Given the description of an element on the screen output the (x, y) to click on. 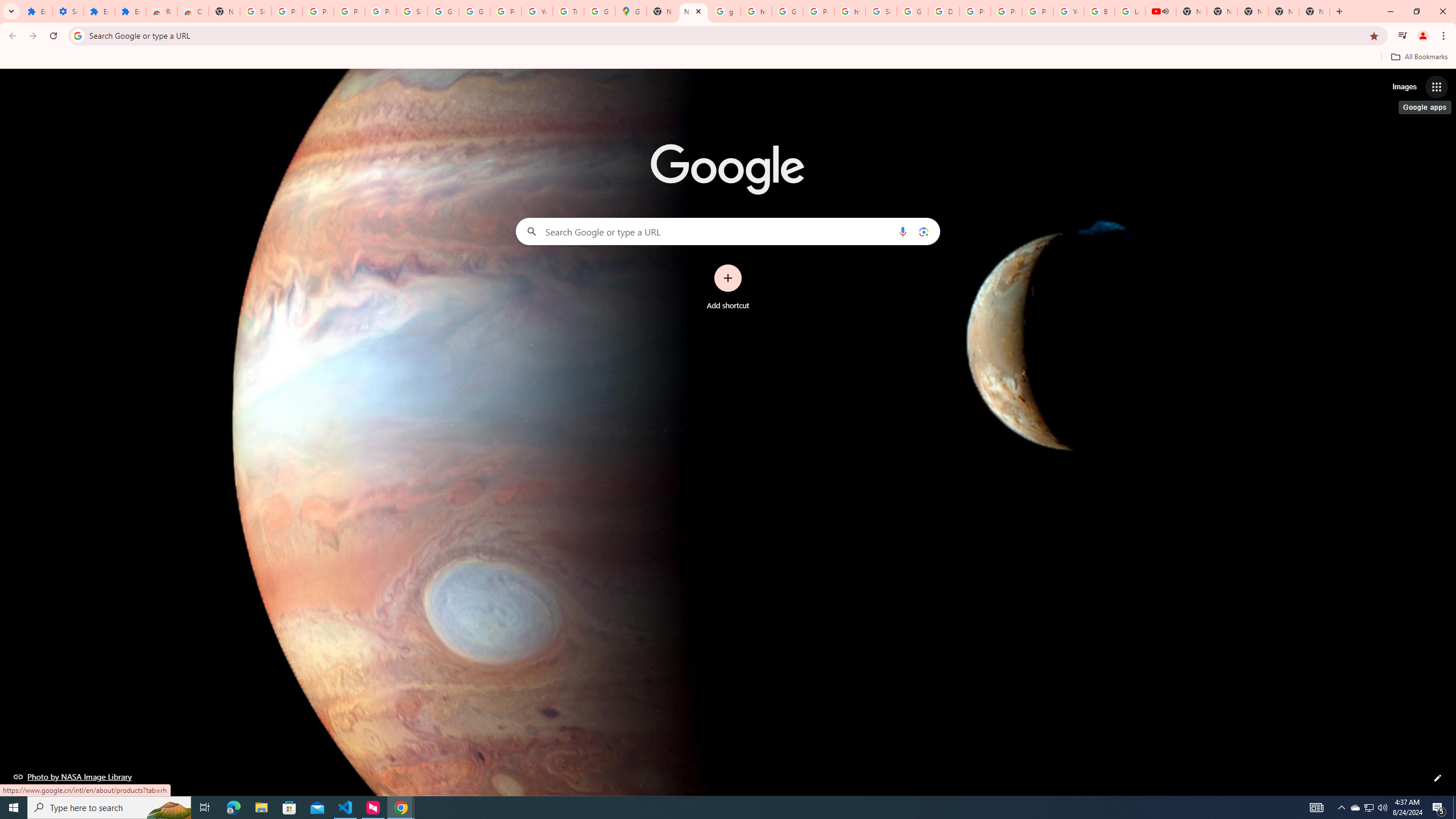
Sign in - Google Accounts (255, 11)
Search Google or type a URL (727, 230)
Reviews: Helix Fruit Jump Arcade Game (161, 11)
New Tab (1314, 11)
Sign in - Google Accounts (881, 11)
